Given the description of an element on the screen output the (x, y) to click on. 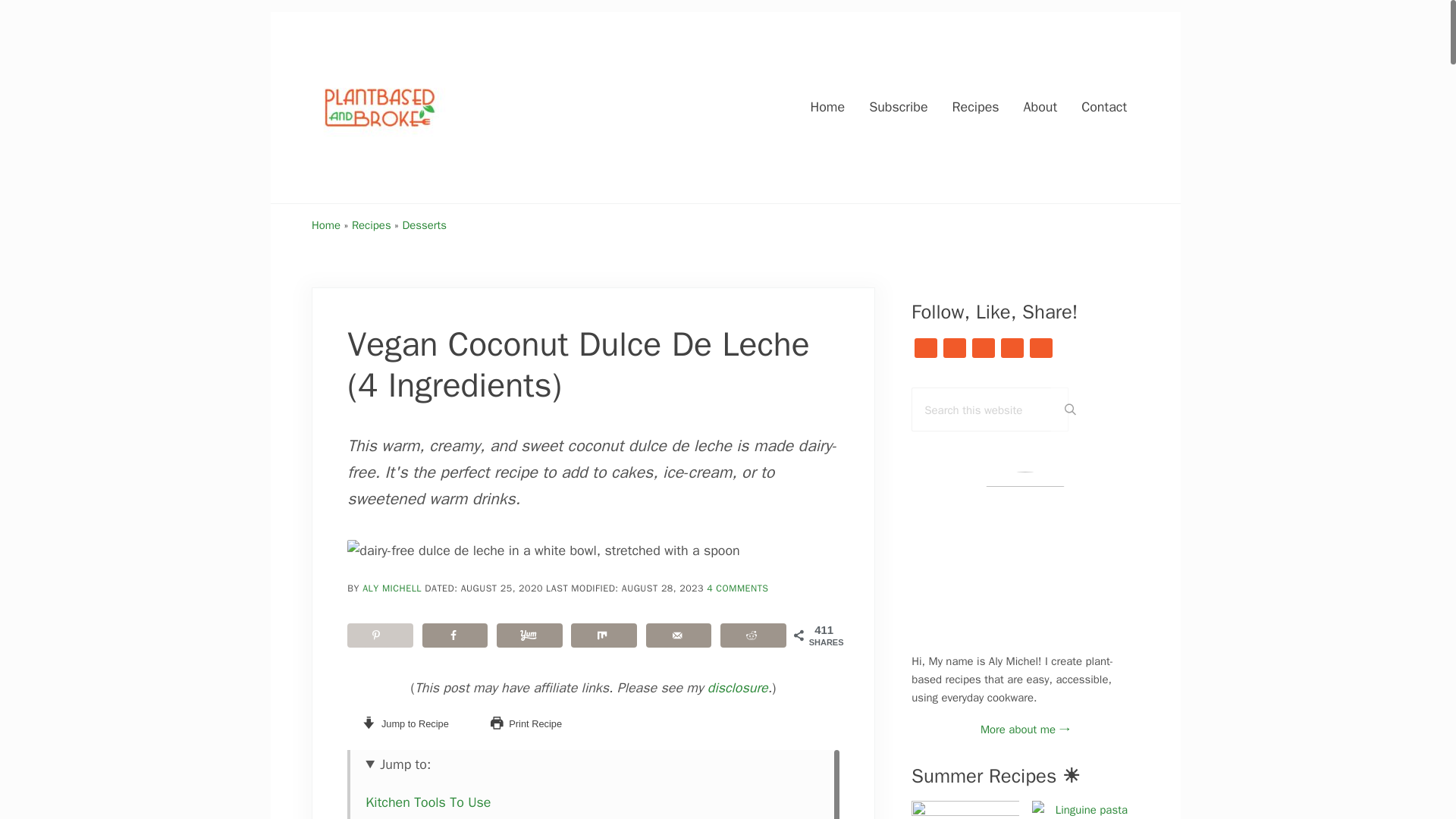
Share on Yummly (529, 635)
disclosure (737, 687)
Desserts (424, 224)
Kitchen Tools To Use (427, 801)
Subscribe (898, 106)
About (1040, 106)
Subscribe (898, 106)
Print Recipe (526, 723)
Share on Reddit (753, 635)
Contact (1103, 106)
